Given the description of an element on the screen output the (x, y) to click on. 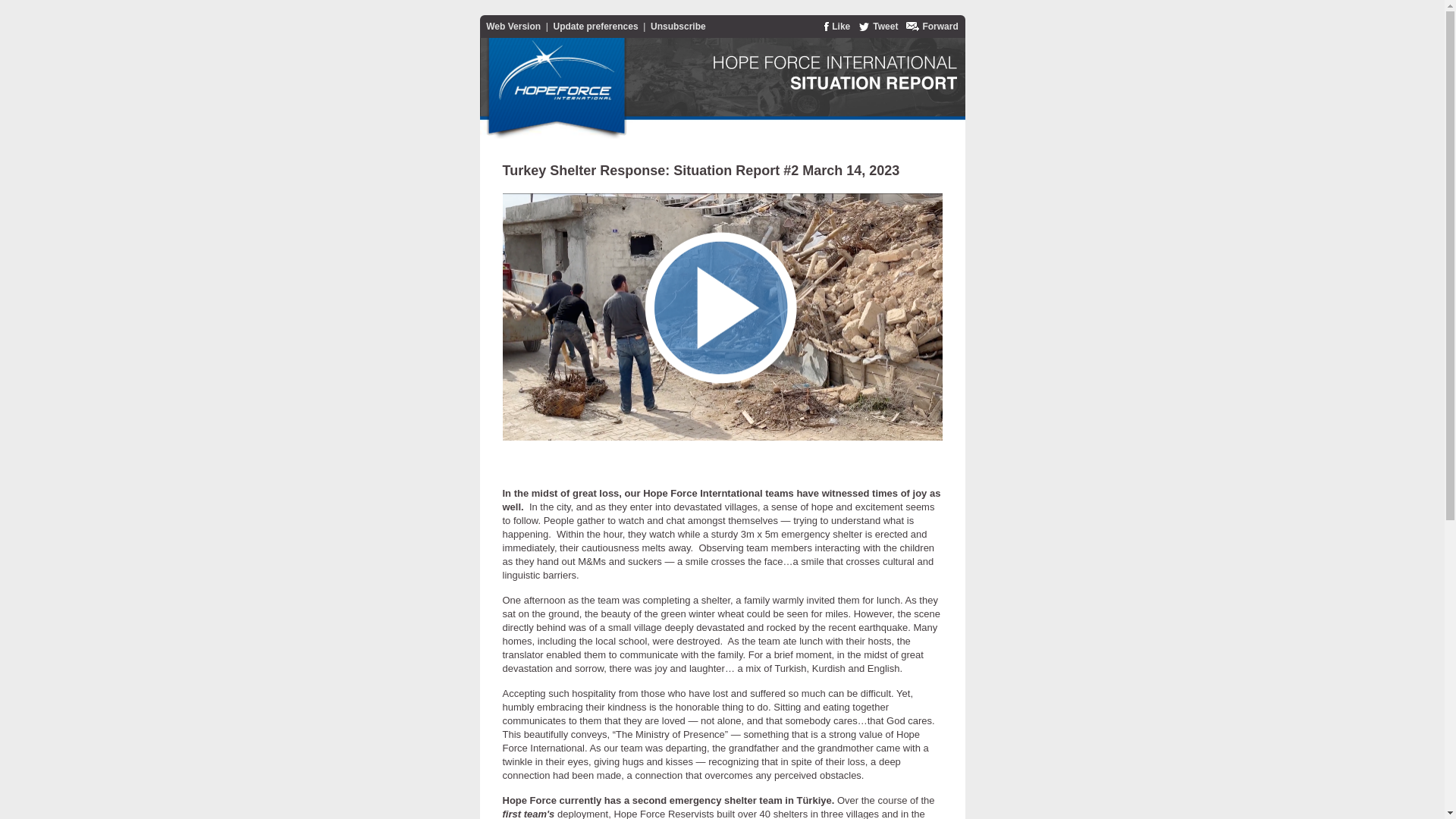
Update preferences (596, 26)
Forward (939, 26)
Like (840, 26)
Tweet (885, 26)
Unsubscribe (678, 26)
Web Version (513, 26)
